Given the description of an element on the screen output the (x, y) to click on. 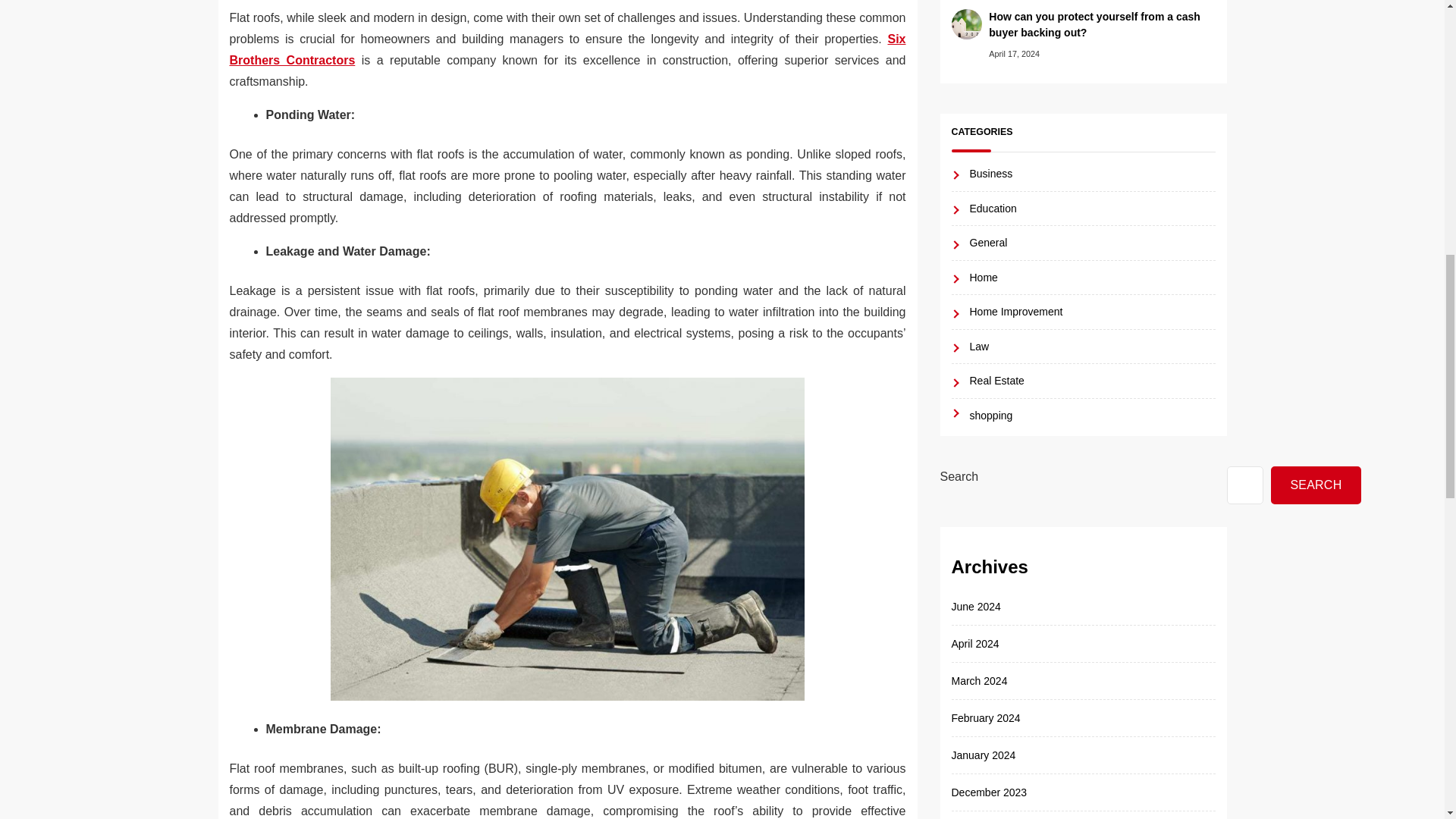
Six Brothers Contractors (566, 49)
